Given the description of an element on the screen output the (x, y) to click on. 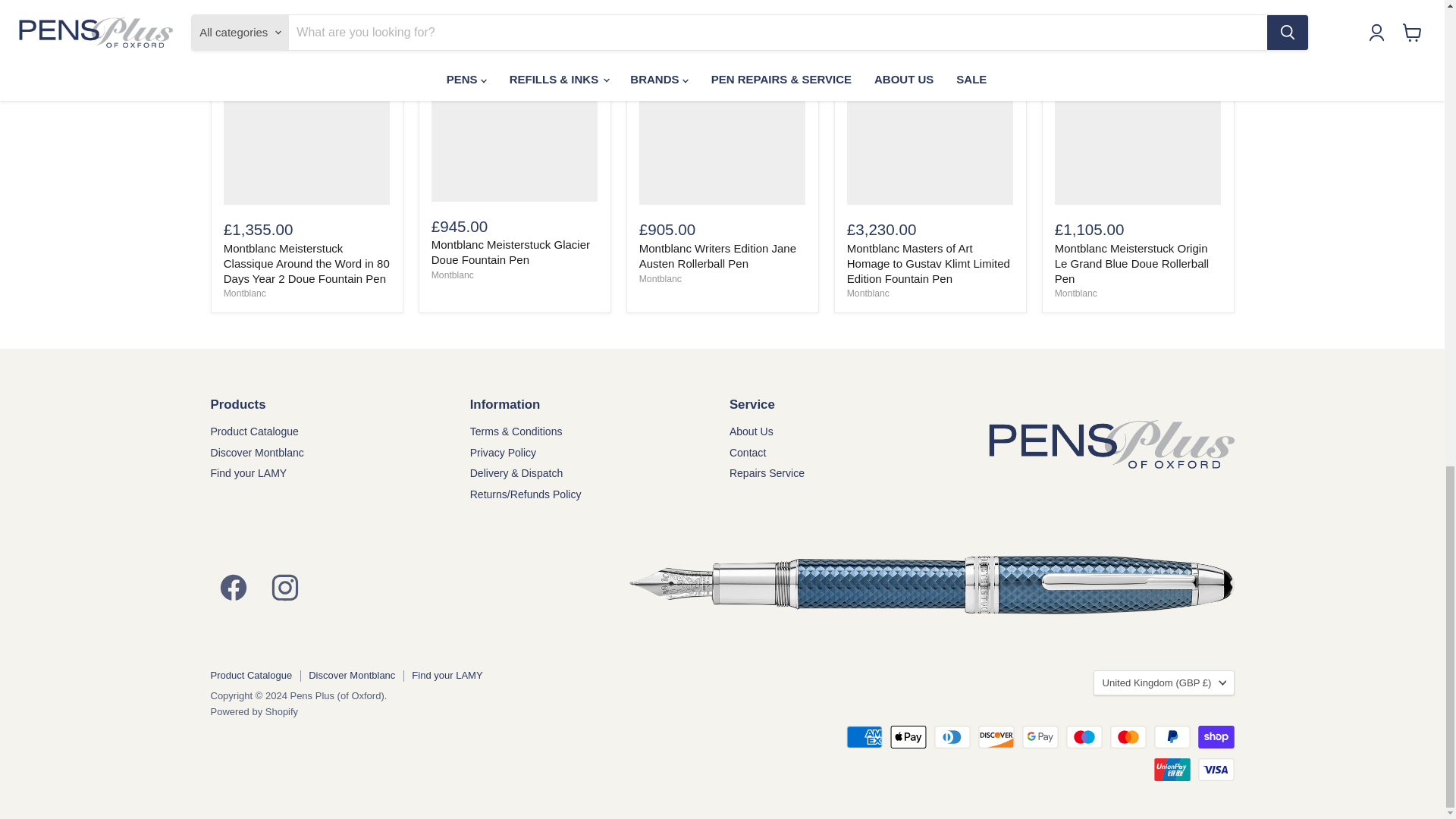
Facebook (233, 584)
Montblanc (868, 293)
Montblanc (660, 278)
Montblanc (245, 293)
Instagram (284, 584)
American Express (863, 736)
Diners Club (952, 736)
Montblanc (1075, 293)
Apple Pay (907, 736)
Montblanc (452, 275)
